Given the description of an element on the screen output the (x, y) to click on. 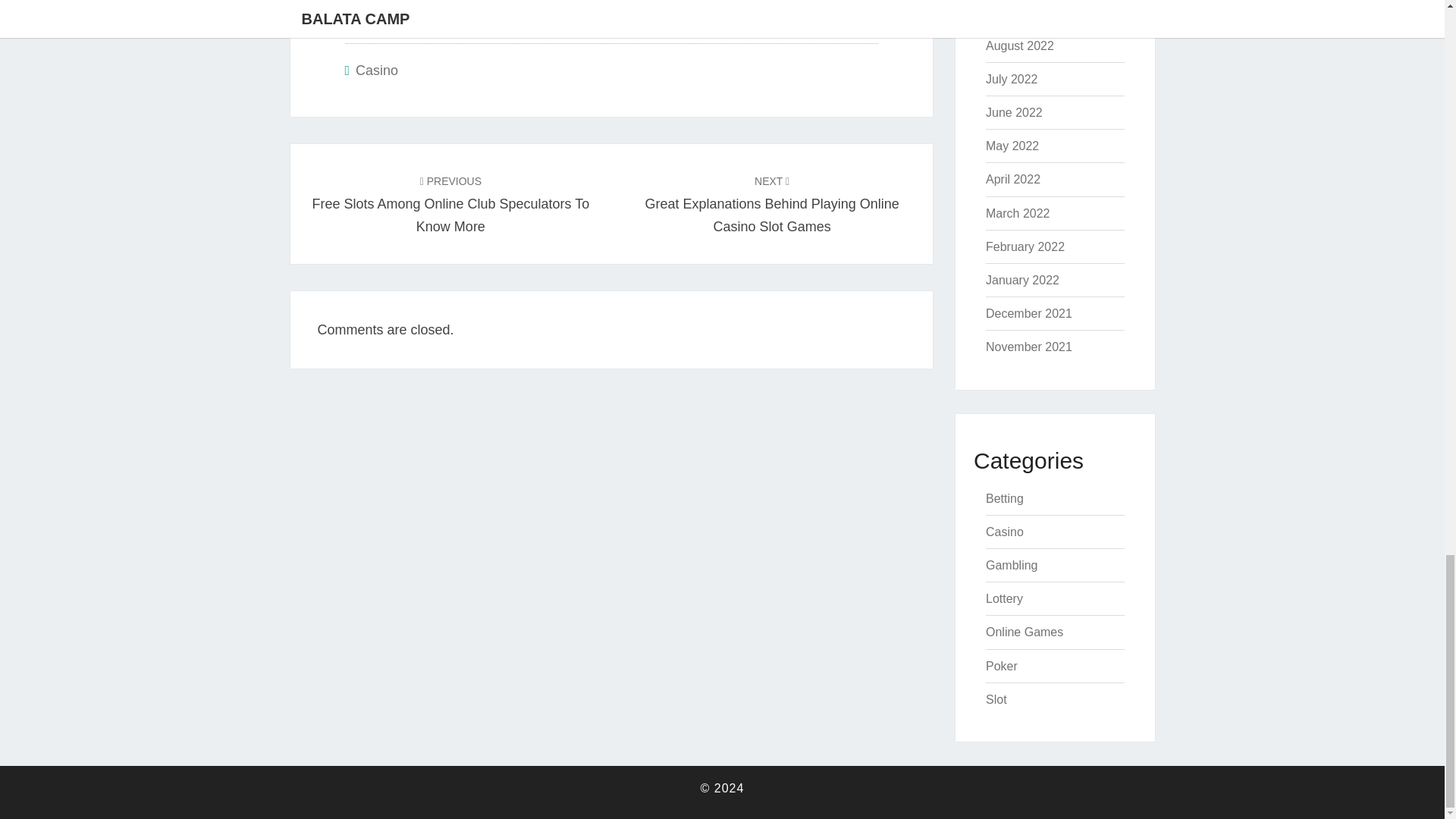
July 2022 (1011, 78)
February 2022 (1024, 246)
August 2022 (1019, 45)
Casino (376, 70)
January 2022 (1022, 279)
April 2022 (1013, 178)
September 2022 (1030, 11)
May 2022 (1012, 145)
March 2022 (1017, 213)
June 2022 (1013, 112)
